Given the description of an element on the screen output the (x, y) to click on. 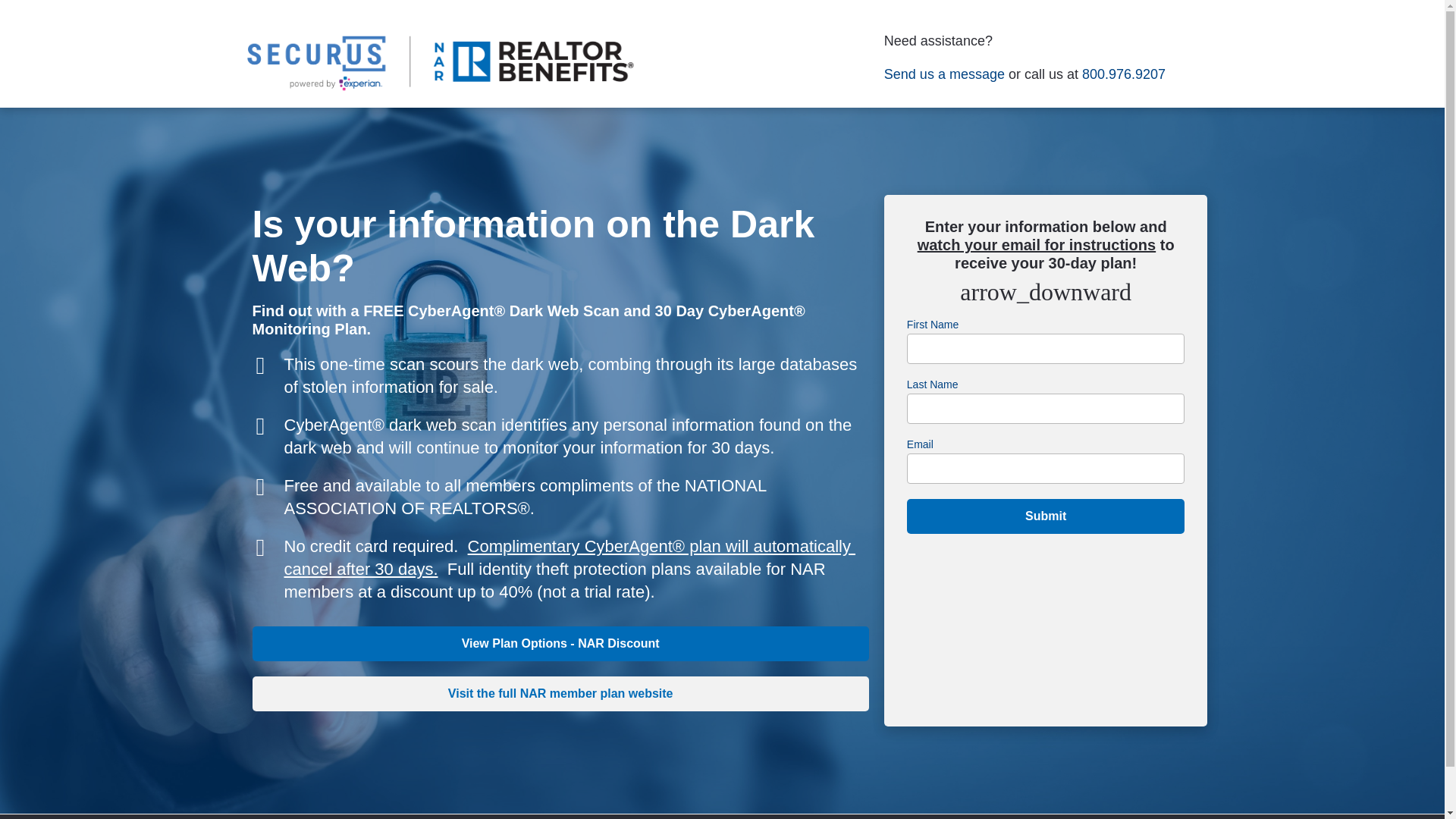
800.976.9207 (1123, 73)
View Plan Options - NAR Discount (559, 643)
Submit (1046, 515)
Link: tel:800-976-9207 (1123, 73)
Send us a message (943, 73)
Visit the full NAR member plan website (559, 693)
